Given the description of an element on the screen output the (x, y) to click on. 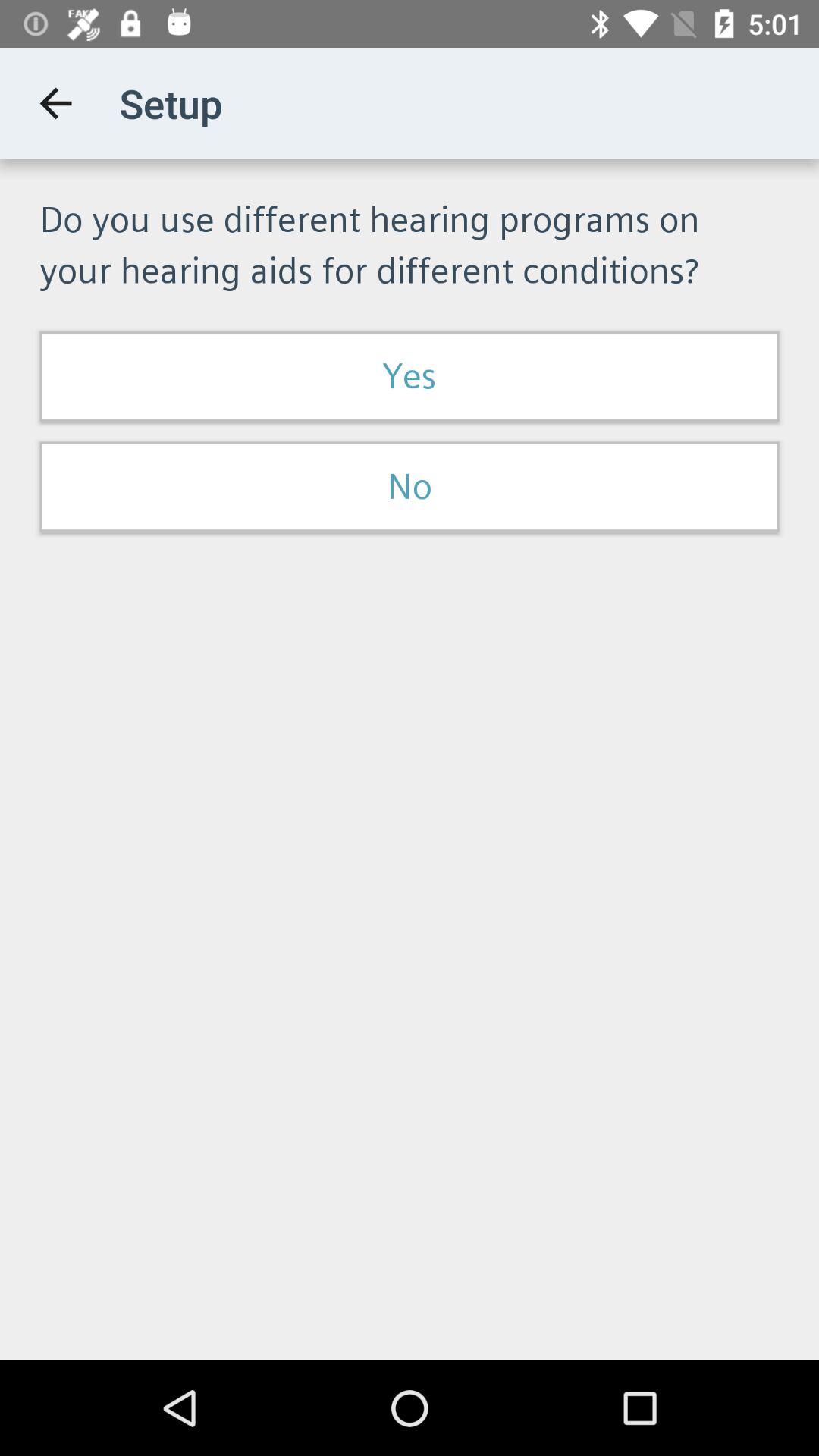
jump to yes (409, 376)
